Given the description of an element on the screen output the (x, y) to click on. 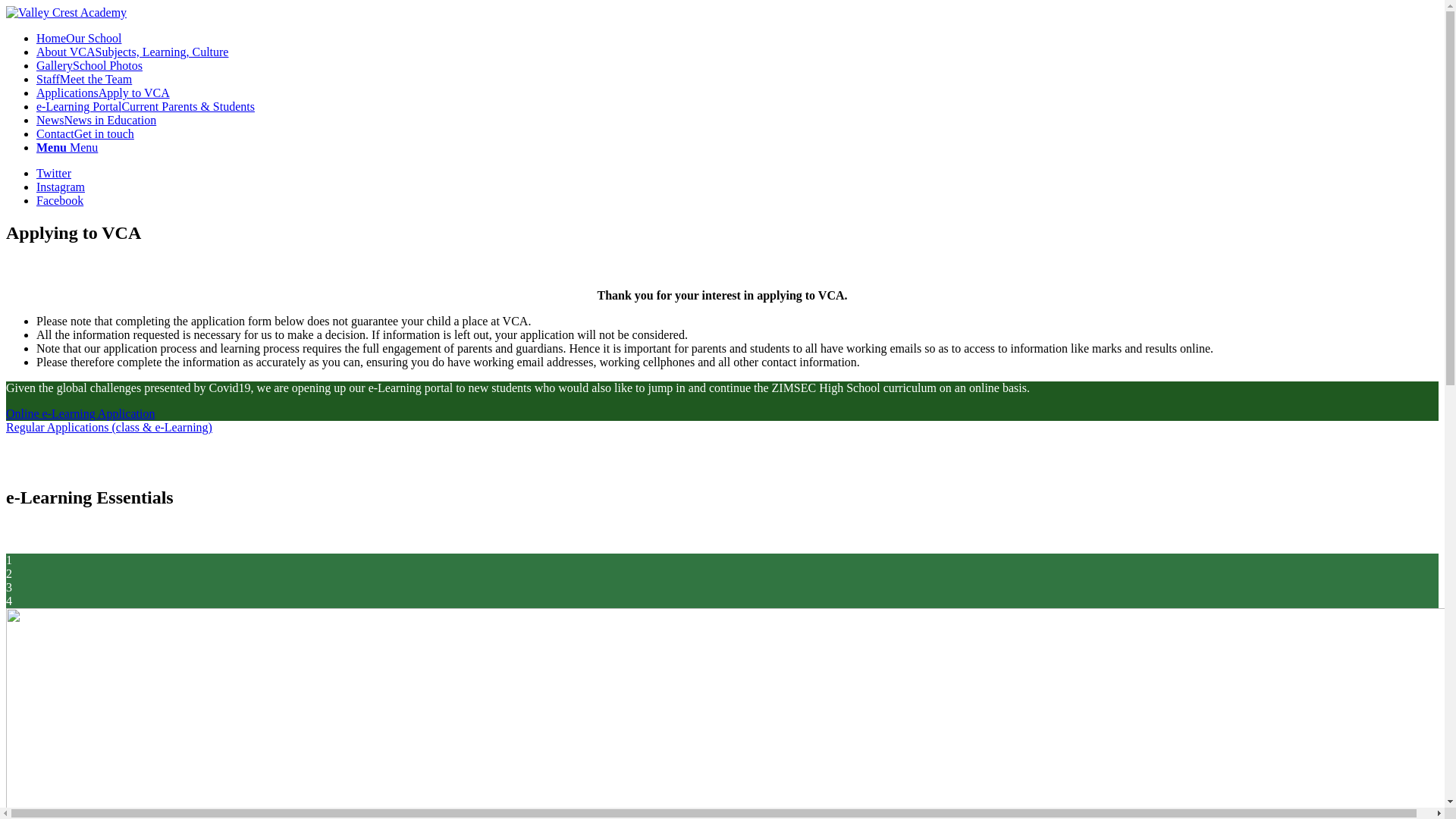
Twitter (53, 173)
Twitter (53, 173)
Facebook (59, 200)
Facebook (59, 200)
Instagram (60, 186)
ContactGet in touch (84, 133)
Online e-Learning Application (79, 413)
NewsNews in Education (95, 119)
ApplicationsApply to VCA (103, 92)
StaffMeet the Team (84, 78)
